Given the description of an element on the screen output the (x, y) to click on. 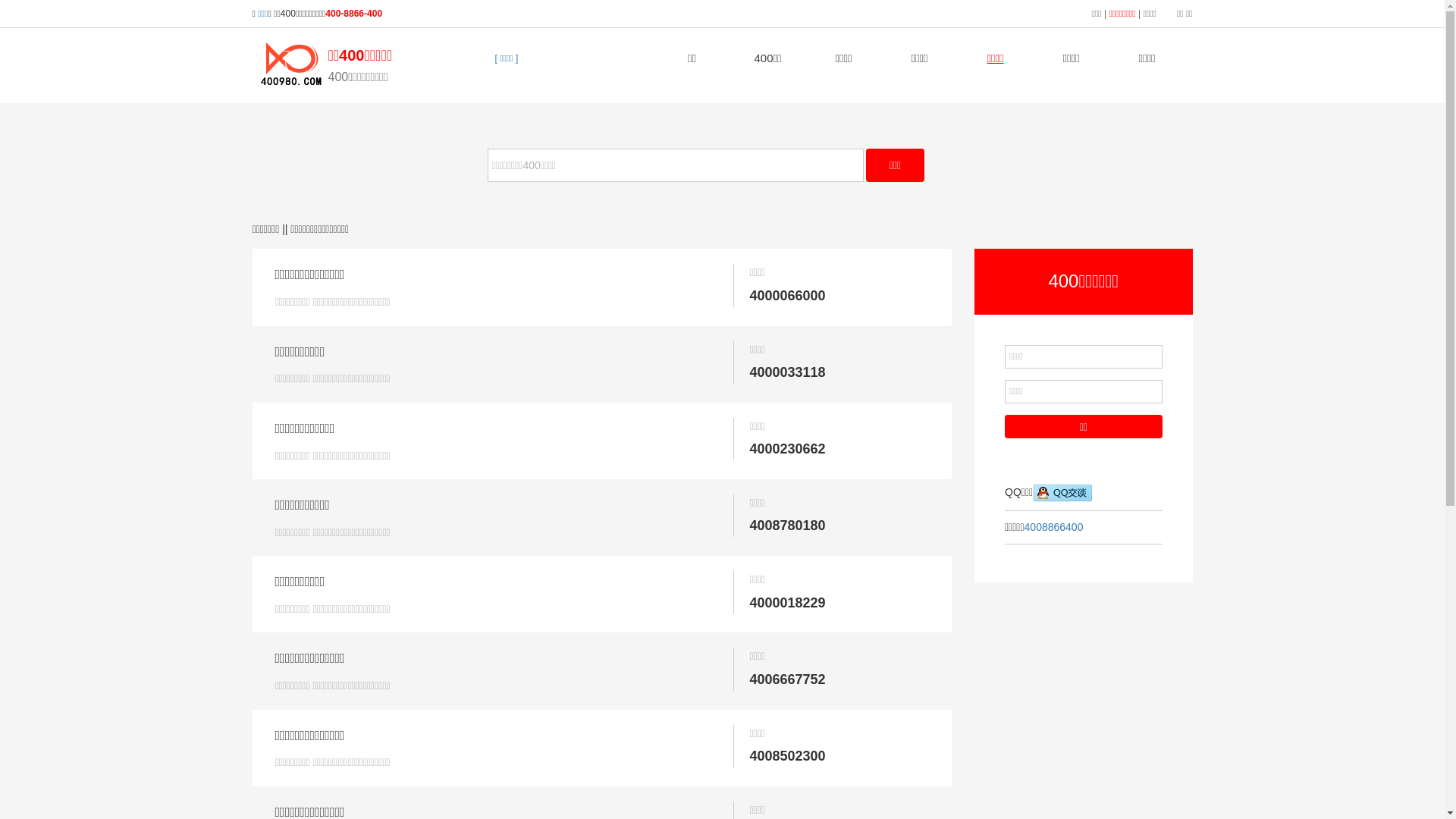
4008866400 Element type: text (1053, 526)
